Given the description of an element on the screen output the (x, y) to click on. 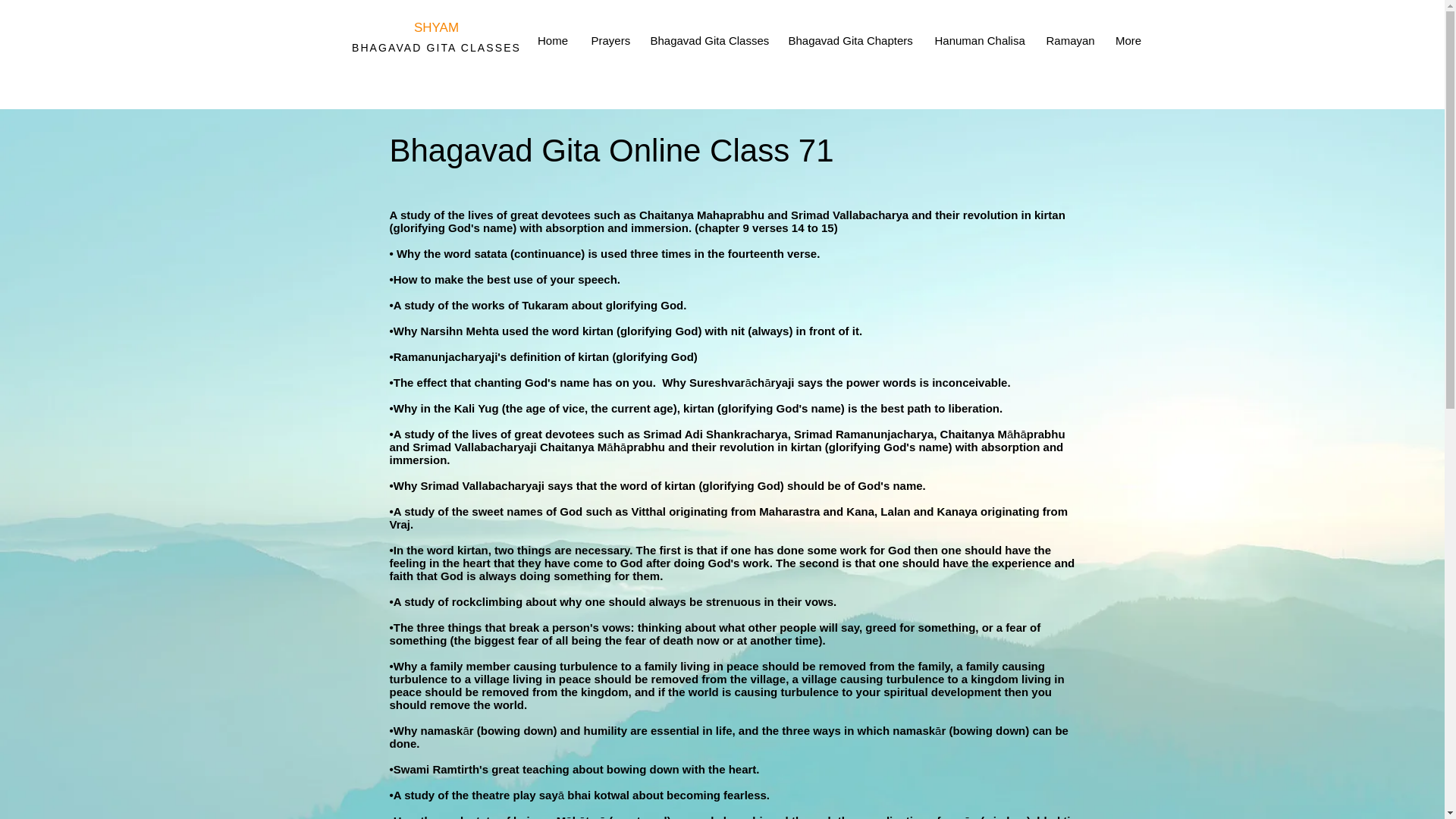
Ramayan (1068, 40)
Home (552, 40)
Prayers (609, 40)
Bhagavad Gita Classes (707, 40)
Bhagavad Gita Chapters (849, 40)
Hanuman Chalisa (979, 40)
BHAGAVAD GITA CLASSES (436, 47)
SHYAM (435, 27)
